Given the description of an element on the screen output the (x, y) to click on. 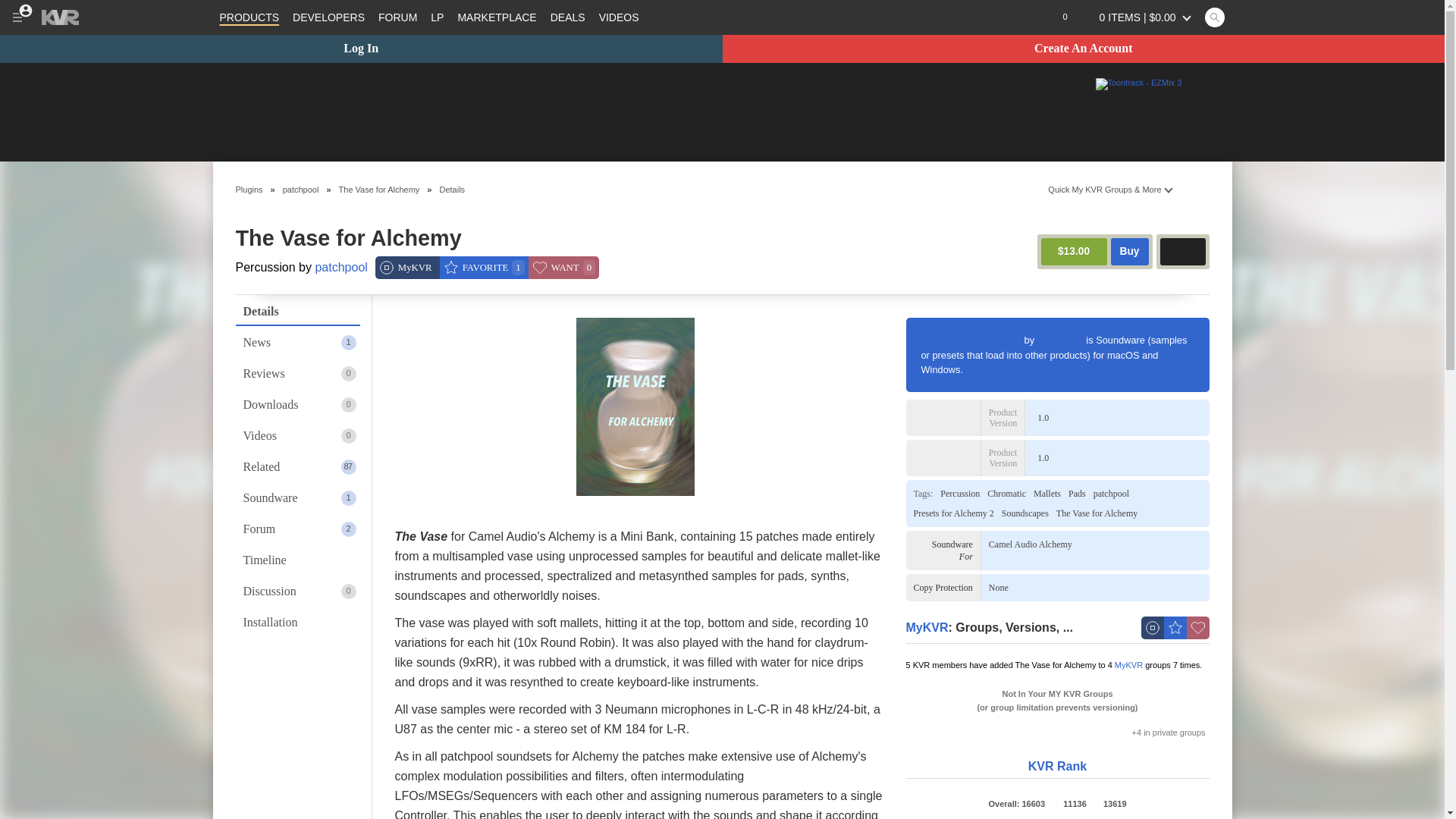
Forum Latest Posts (436, 17)
Plugins and Products Database (248, 17)
Cart (1137, 17)
Toontrack - EZMix 3 (1137, 83)
Share This (1195, 189)
Marketplace (496, 17)
Forum (397, 17)
